Given the description of an element on the screen output the (x, y) to click on. 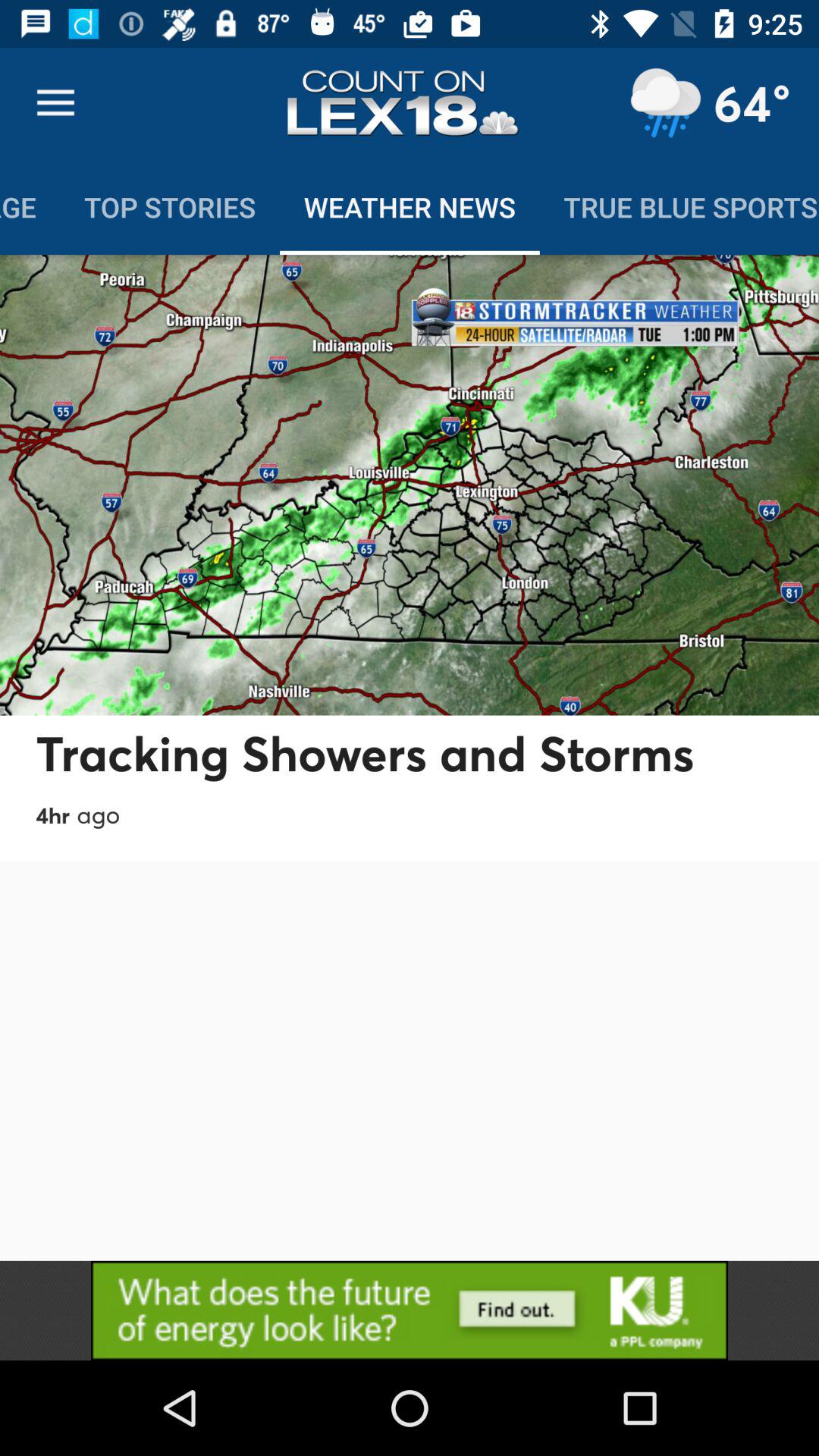
show perception (665, 103)
